Given the description of an element on the screen output the (x, y) to click on. 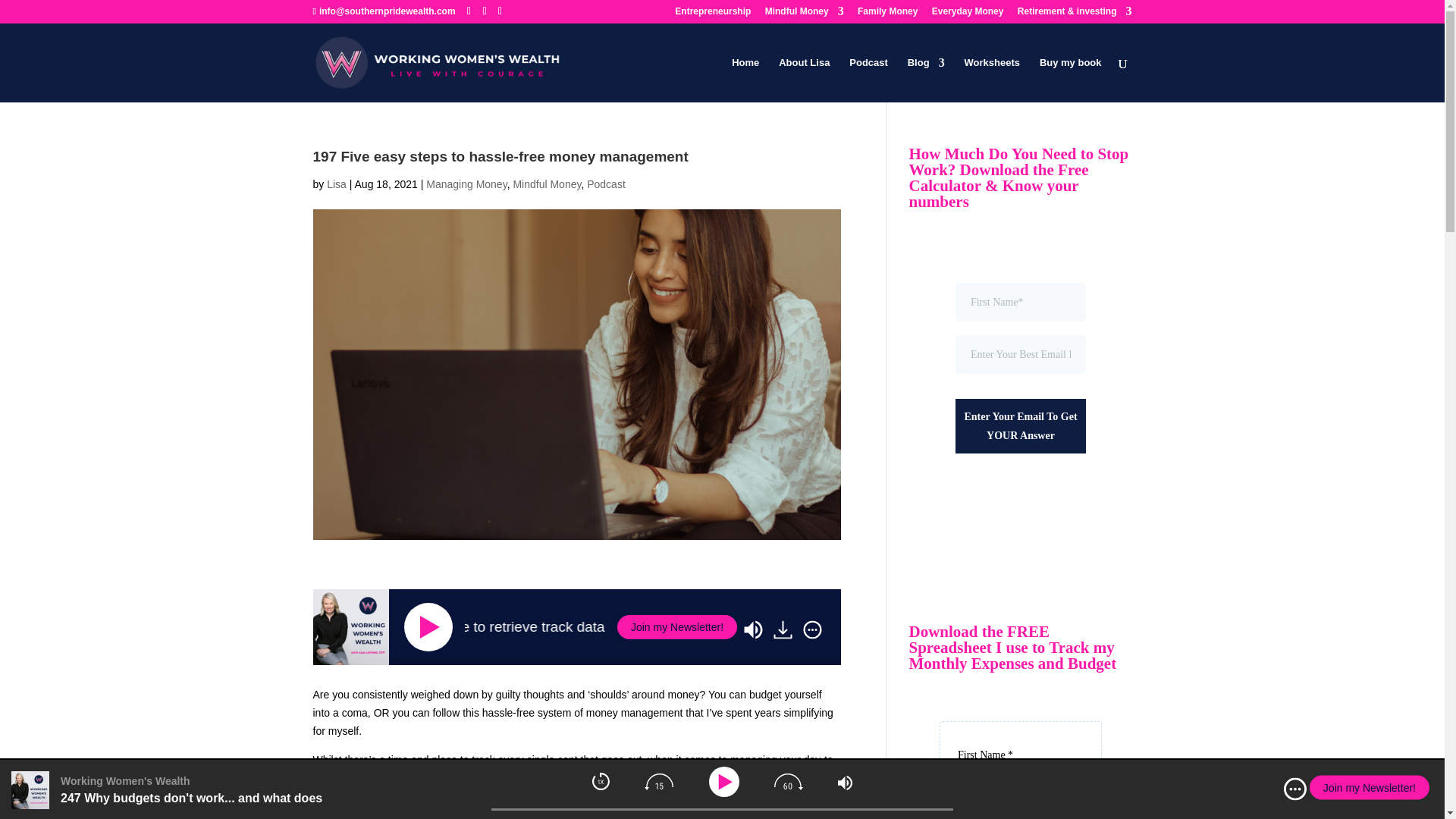
Podcast (868, 79)
About Lisa (803, 79)
Blog (925, 79)
Family Money (887, 14)
Buy my book (1070, 79)
Entrepreneurship (713, 14)
Download (783, 629)
Posts by Lisa (336, 183)
Everyday Money (967, 14)
Mindful Money (804, 14)
Forward 60 seconds (788, 781)
Home (745, 79)
Worksheets (991, 79)
More (812, 629)
More (1295, 789)
